Given the description of an element on the screen output the (x, y) to click on. 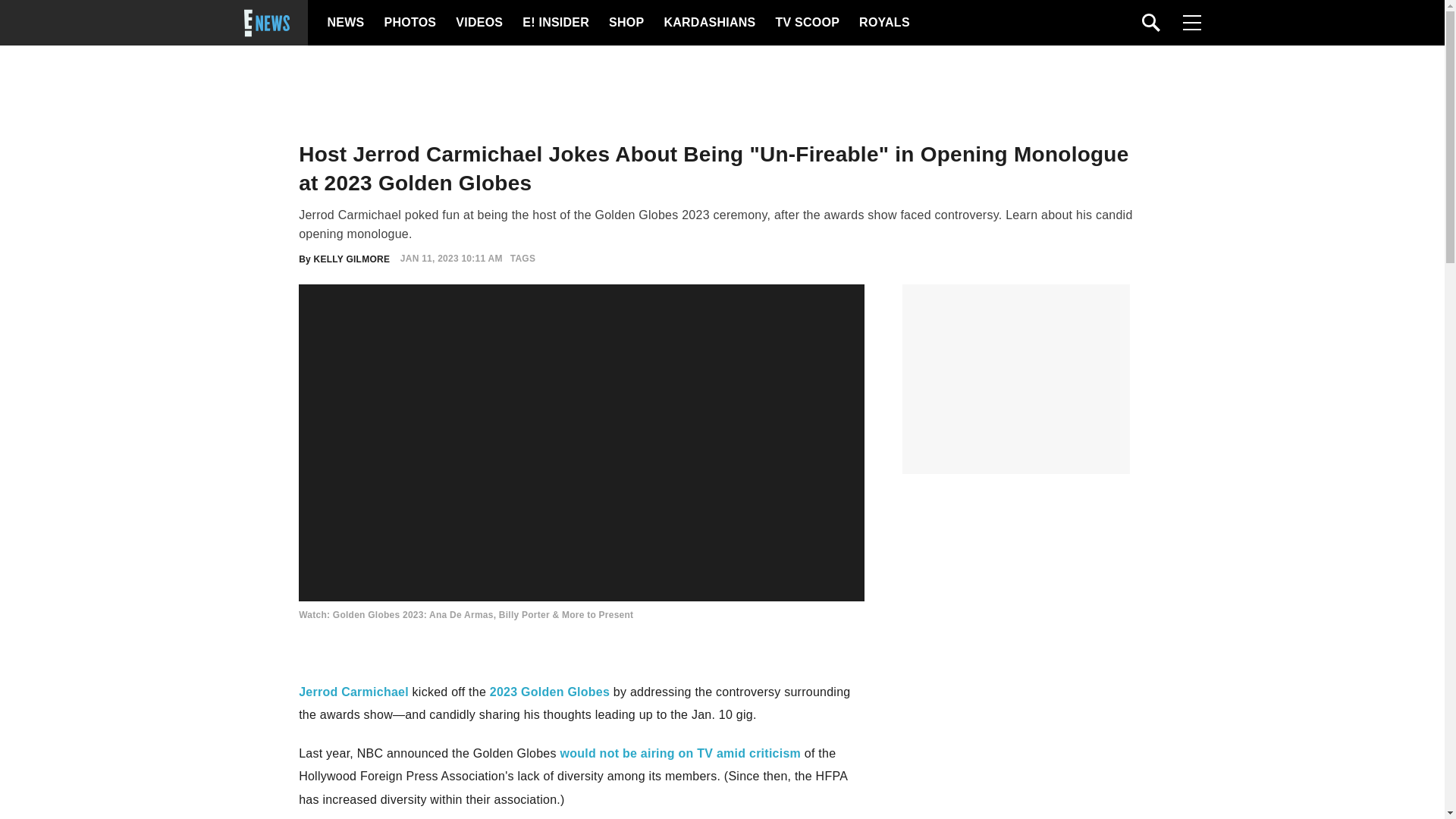
KARDASHIANS (708, 22)
SHOP (625, 22)
PHOTOS (408, 22)
Jerrod Carmichael (353, 691)
TV SCOOP (806, 22)
NEWS (345, 22)
KELLY GILMORE (352, 258)
ROYALS (883, 22)
2023 Golden Globes (549, 691)
E! INSIDER (555, 22)
